Given the description of an element on the screen output the (x, y) to click on. 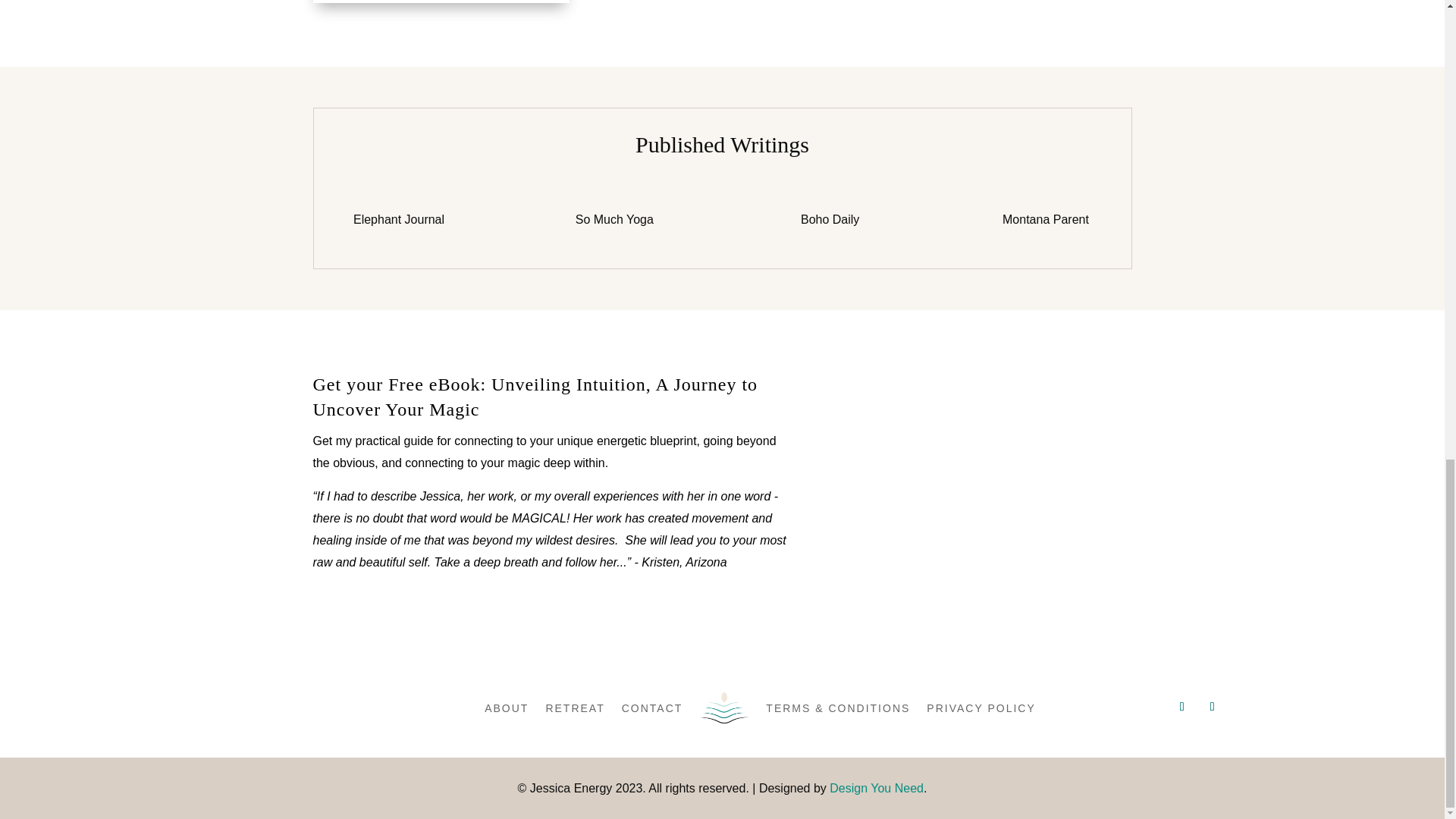
Follow on Instagram (1181, 706)
Follow on Facebook (1211, 706)
